Given the description of an element on the screen output the (x, y) to click on. 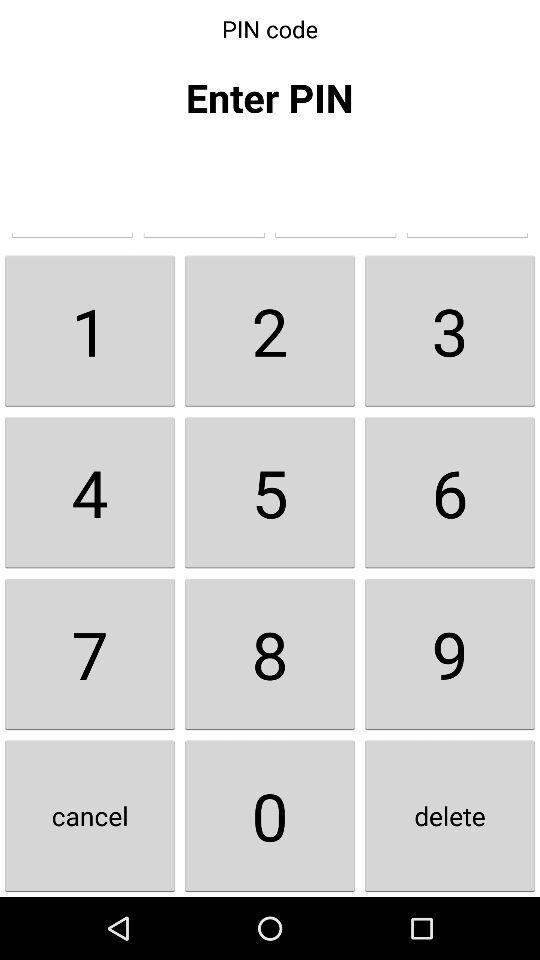
press item below the 5 (450, 654)
